Given the description of an element on the screen output the (x, y) to click on. 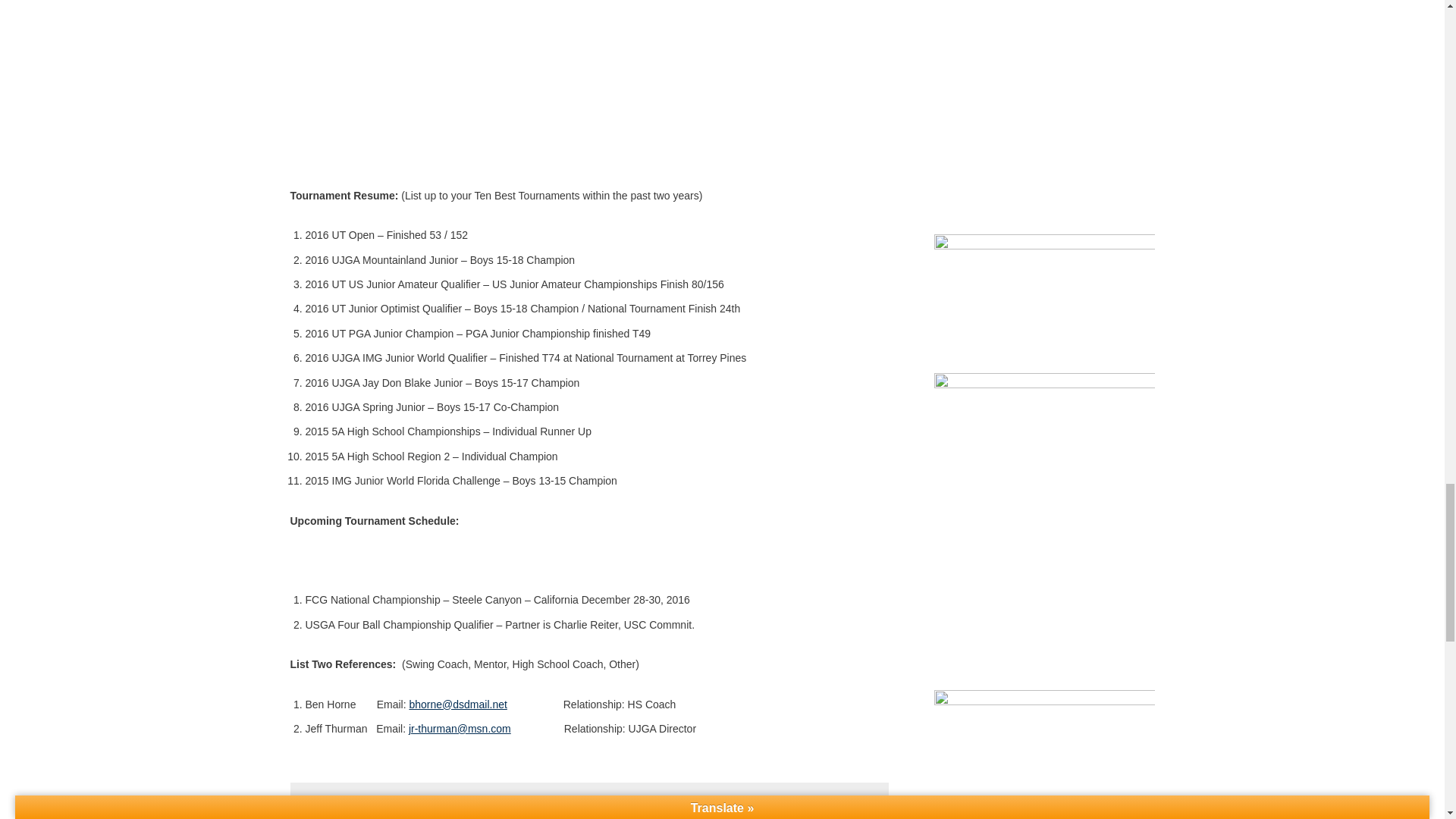
Cole Ponich Golf (588, 53)
